Given the description of an element on the screen output the (x, y) to click on. 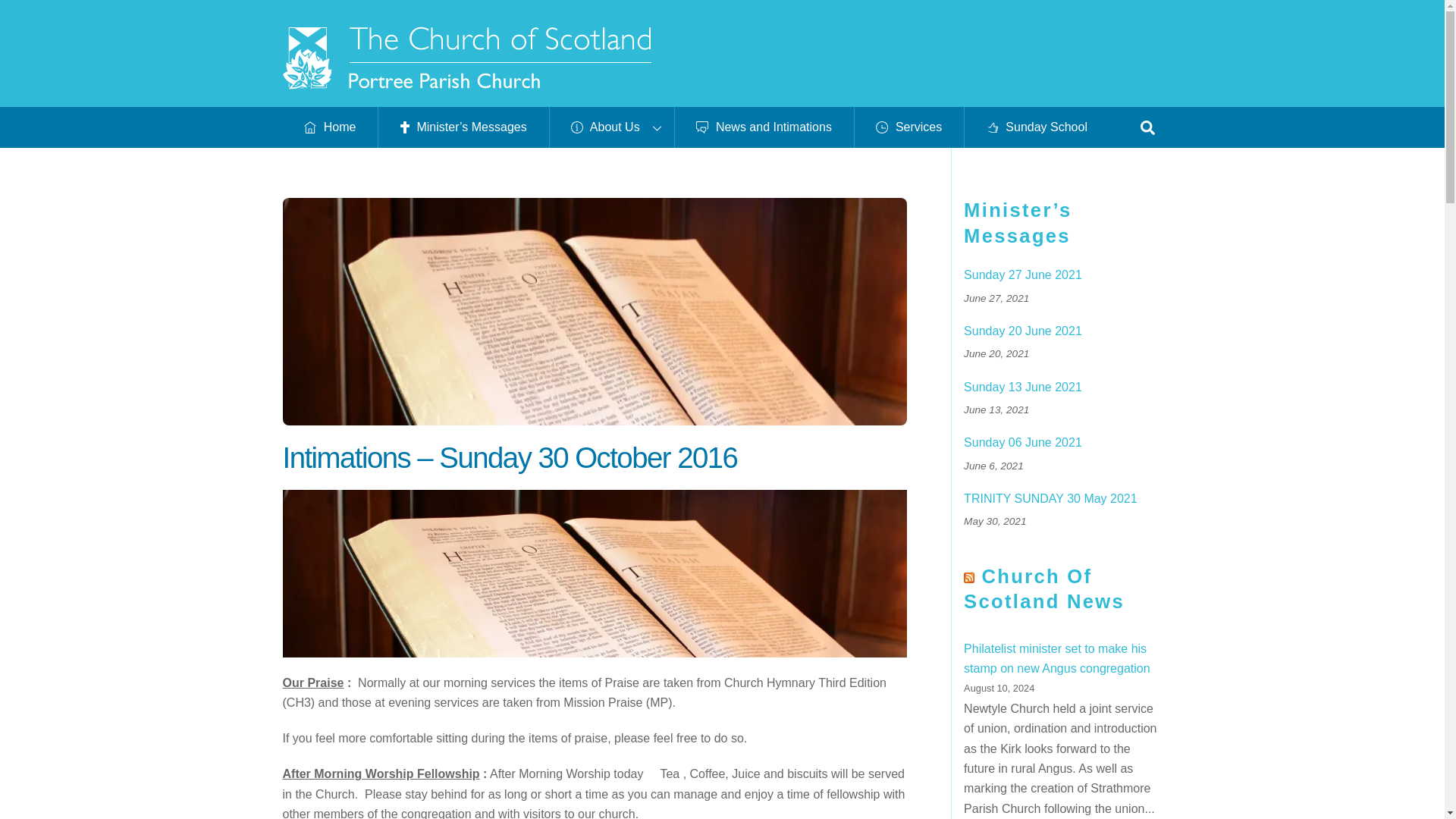
Sunday 13 June 2021 (1062, 387)
Sunday School (1036, 127)
Services (908, 127)
News and Intimations (763, 127)
Sunday 20 June 2021 (1062, 331)
TRINITY SUNDAY 30 May 2021 (1062, 498)
About Us (611, 127)
Sunday 06 June 2021 (1062, 442)
Church Of Scotland News (1043, 588)
